Given the description of an element on the screen output the (x, y) to click on. 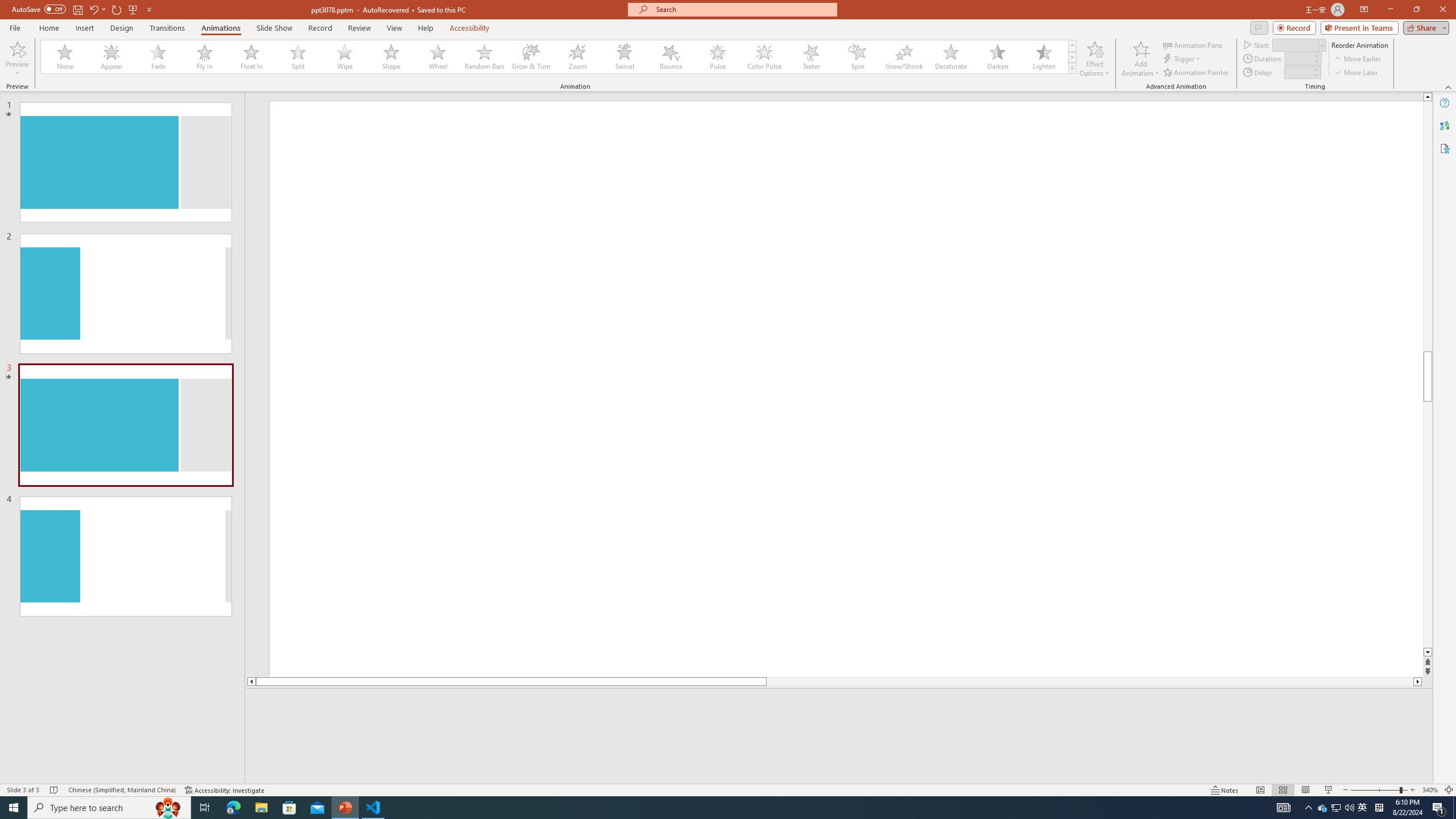
Accessibility Checker Accessibility: Investigate (224, 790)
Line up (1427, 96)
Row Down (1071, 56)
Trigger (1182, 58)
